Given the description of an element on the screen output the (x, y) to click on. 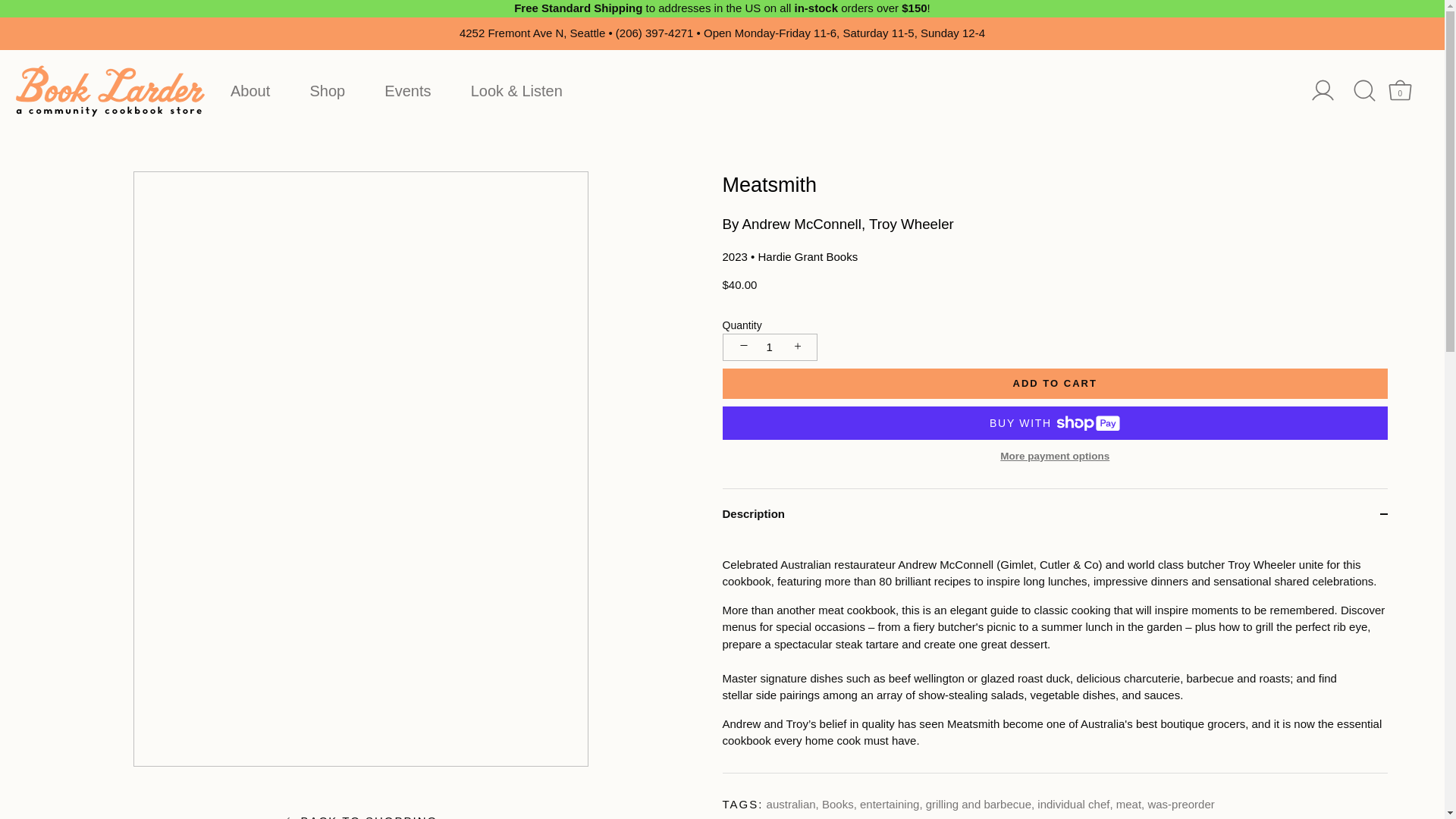
Account Icon (1322, 90)
About (1400, 90)
Events (250, 90)
Account Icon (407, 90)
Shopping Cart Icon (1335, 90)
Shop (1400, 90)
